Given the description of an element on the screen output the (x, y) to click on. 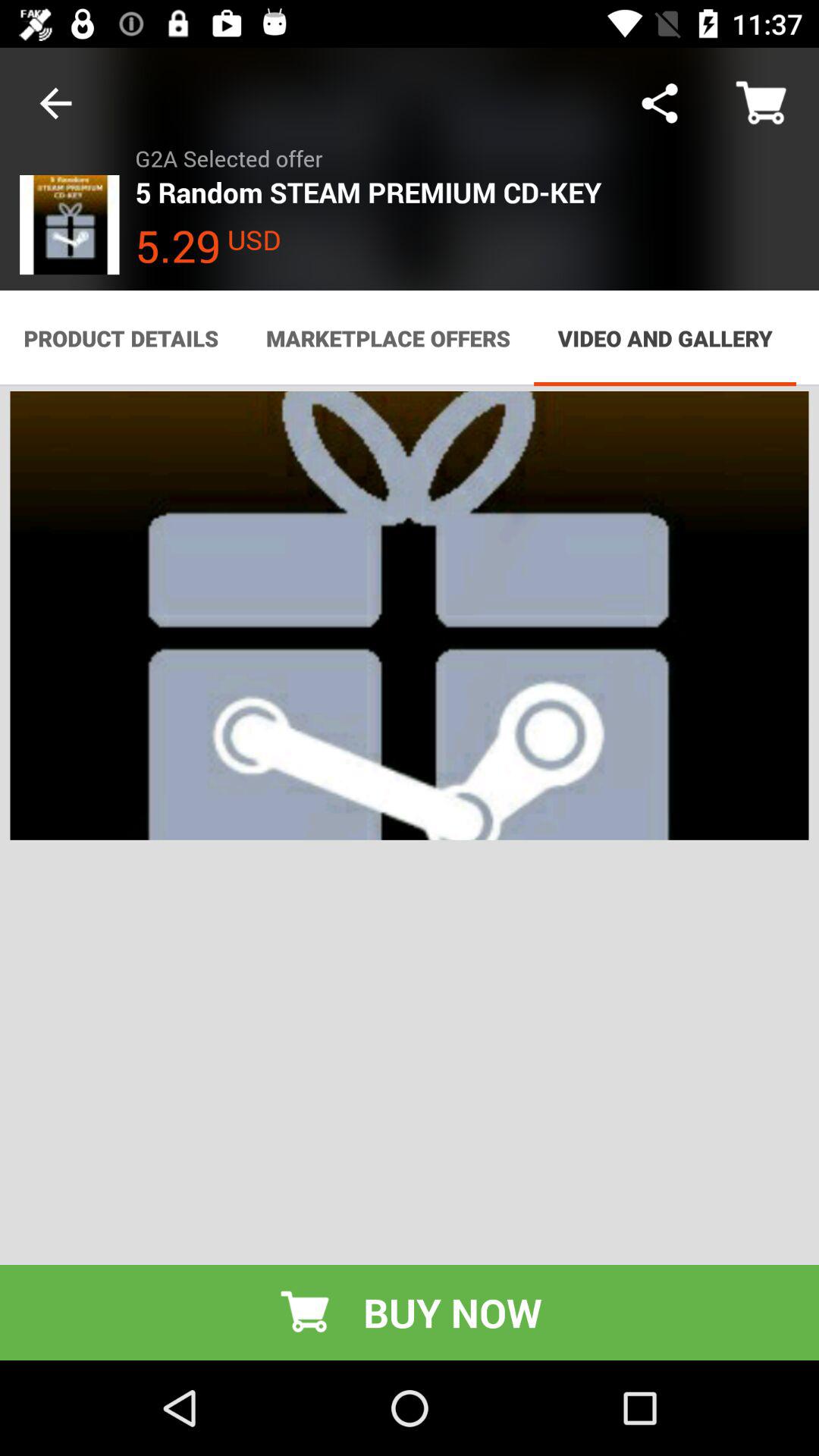
turn off the item above product details item (55, 103)
